Given the description of an element on the screen output the (x, y) to click on. 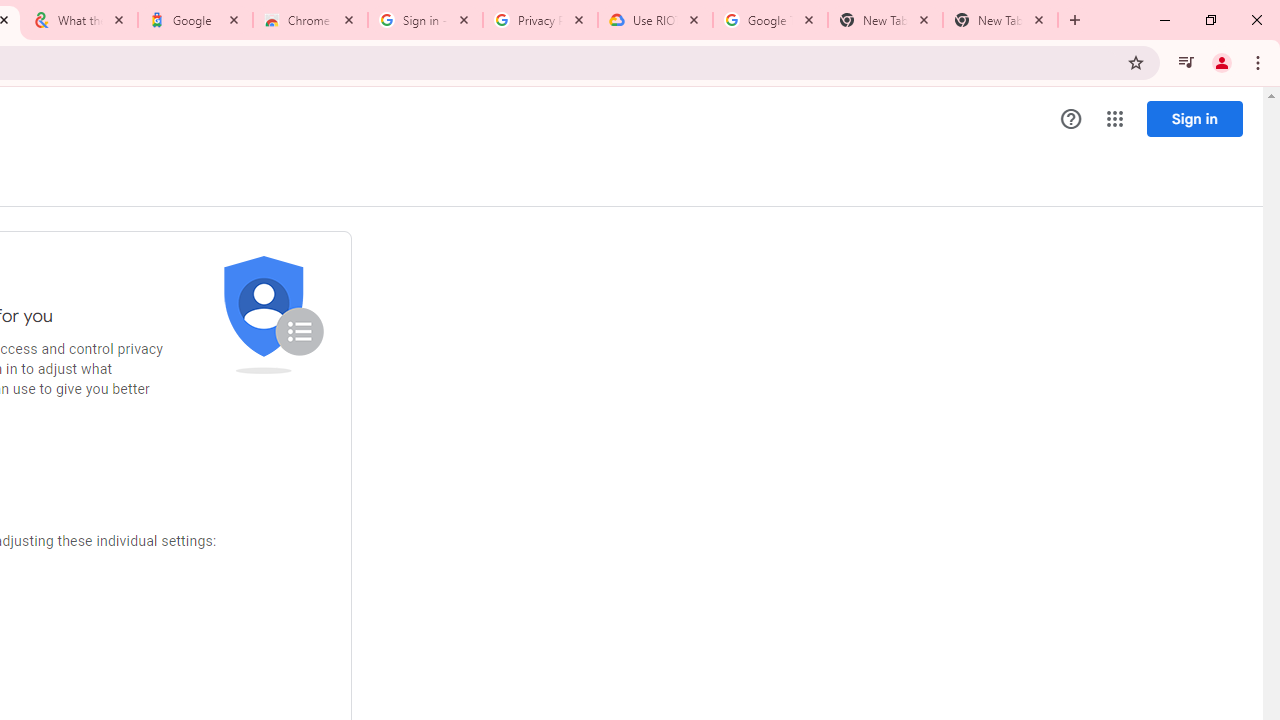
Sign in - Google Accounts (424, 20)
New Tab (1000, 20)
Sign in (1194, 118)
Chrome Web Store - Color themes by Chrome (310, 20)
Control your music, videos, and more (1185, 62)
